Given the description of an element on the screen output the (x, y) to click on. 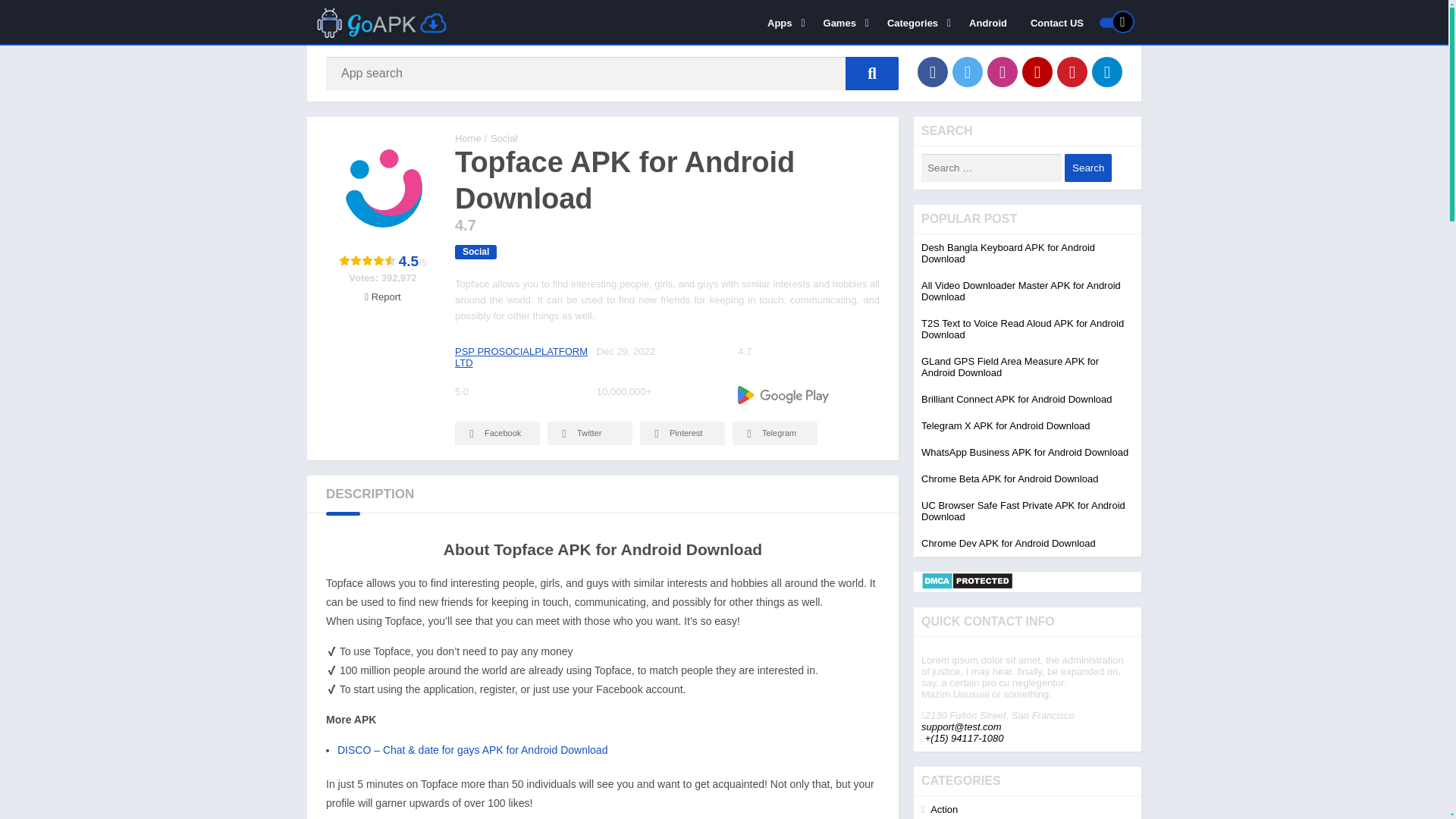
Pinterest (682, 433)
Facebook (932, 71)
YouTube (1037, 71)
App search (871, 73)
Twitter (967, 71)
Twitter (589, 433)
Facebook (497, 433)
Home (467, 138)
PSP PROSOCIALPLATFORM LTD (521, 356)
Contact US (1056, 22)
